Given the description of an element on the screen output the (x, y) to click on. 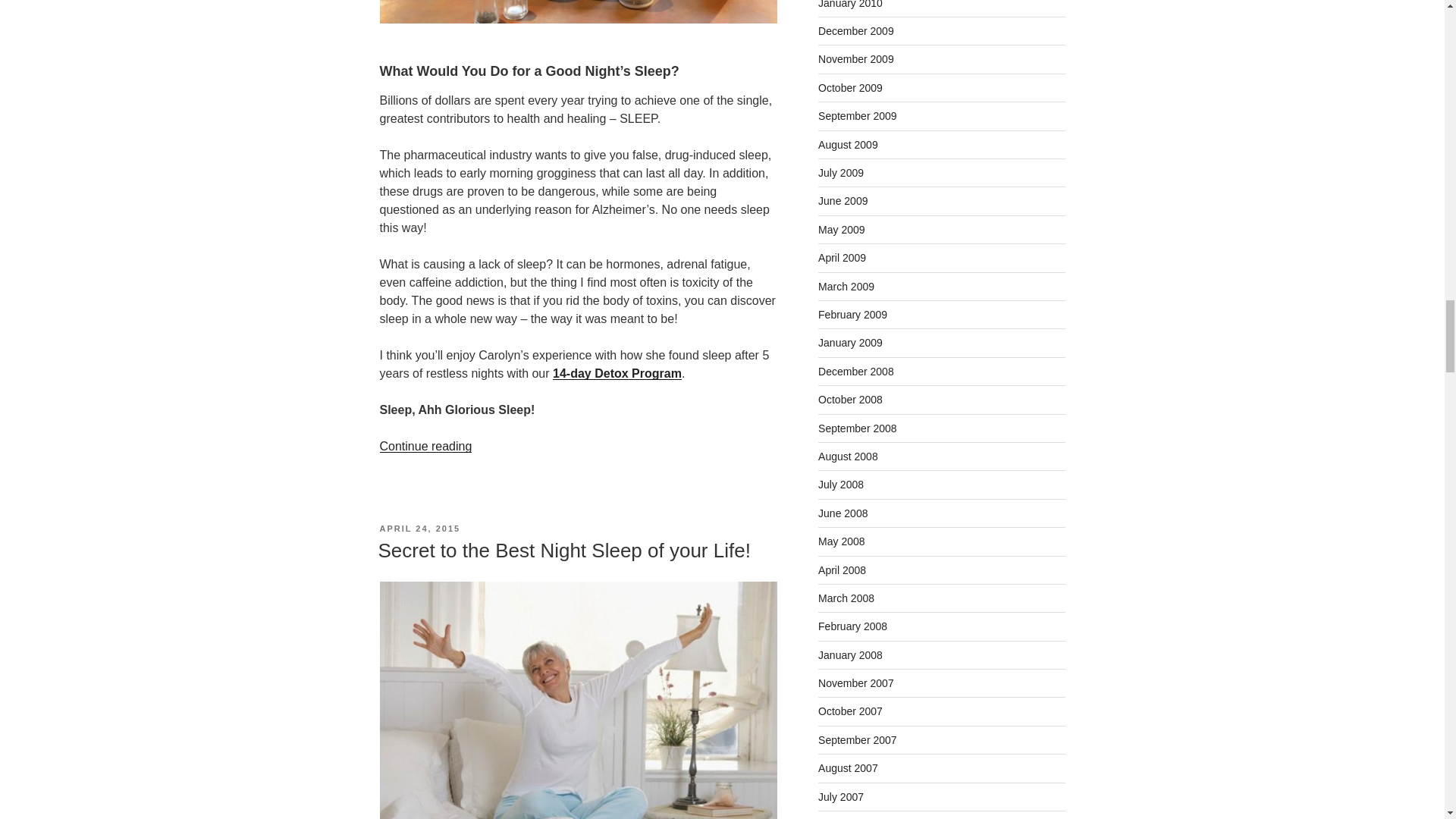
14-day Detox Program (617, 373)
Secret to the Best Night Sleep of your Life! (563, 549)
Carolyn and LeAnn enjoying Detox Soup (577, 11)
APRIL 24, 2015 (419, 528)
